Given the description of an element on the screen output the (x, y) to click on. 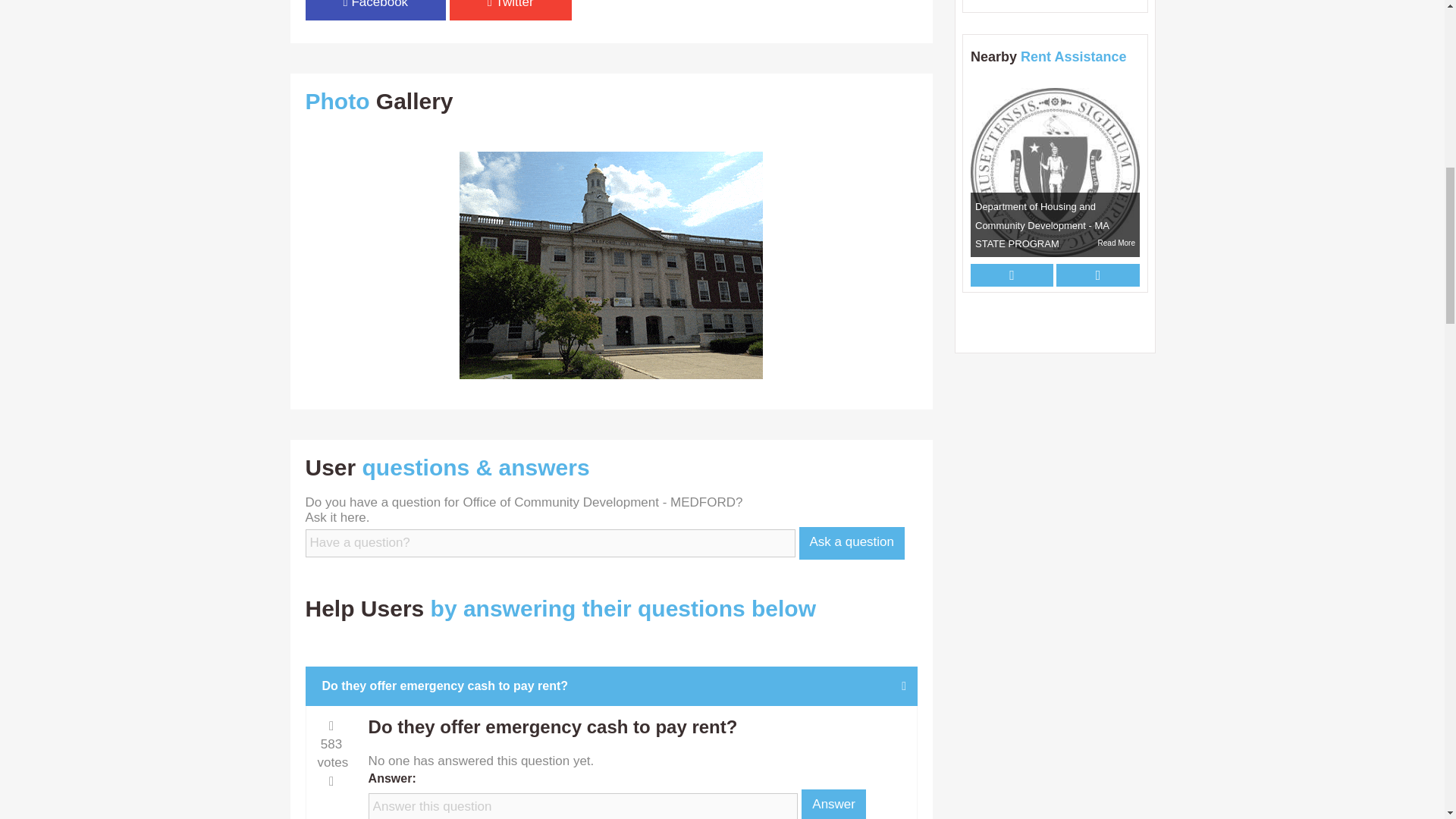
Facebook (374, 10)
Do they offer emergency cash to pay rent? (612, 686)
Twitter (510, 10)
Answer (834, 804)
Ask a question (852, 542)
Ask a question (852, 542)
